Given the description of an element on the screen output the (x, y) to click on. 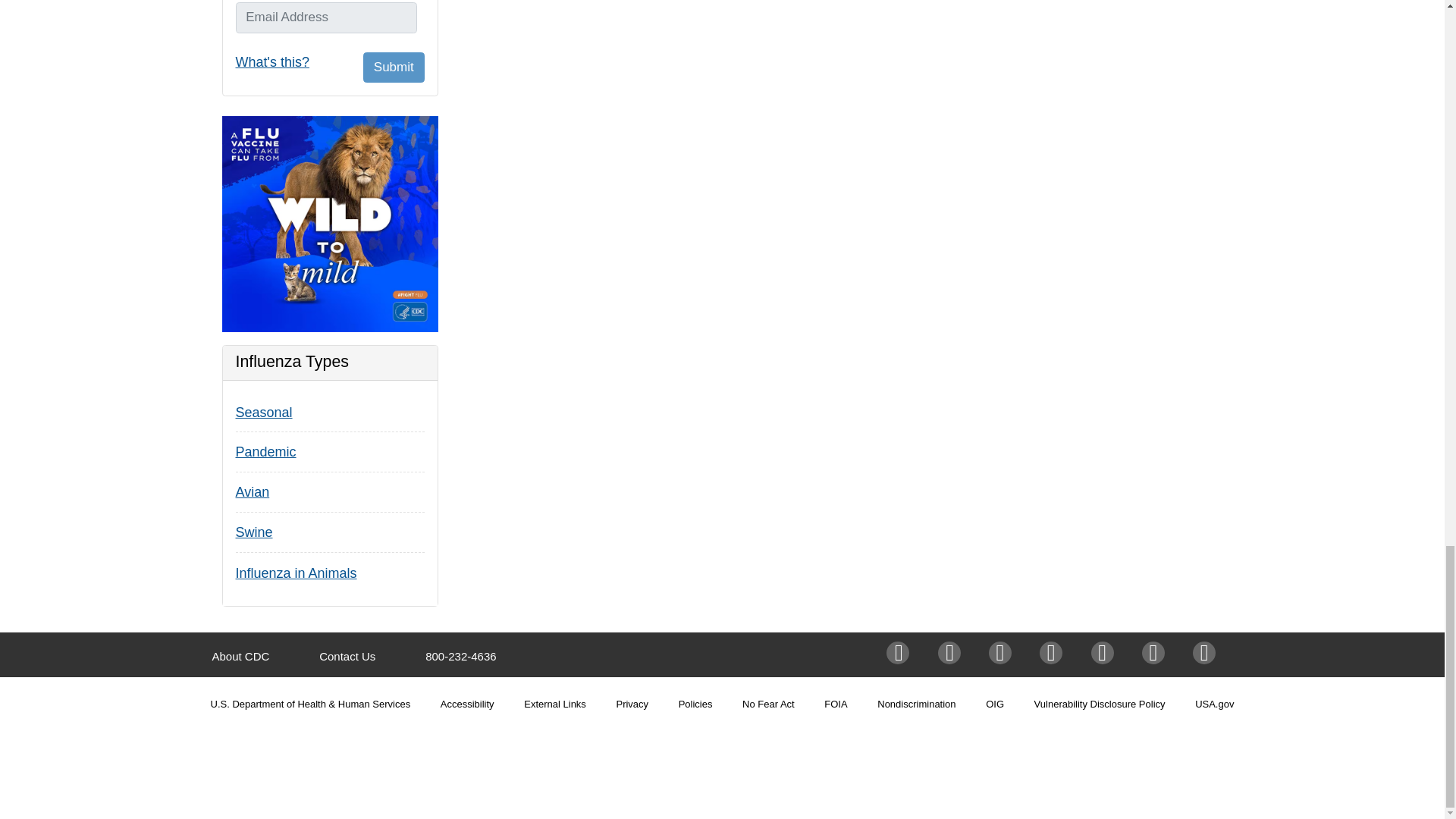
Email Address (325, 17)
A flu vaccine can take flu from wild to mild (329, 224)
